Given the description of an element on the screen output the (x, y) to click on. 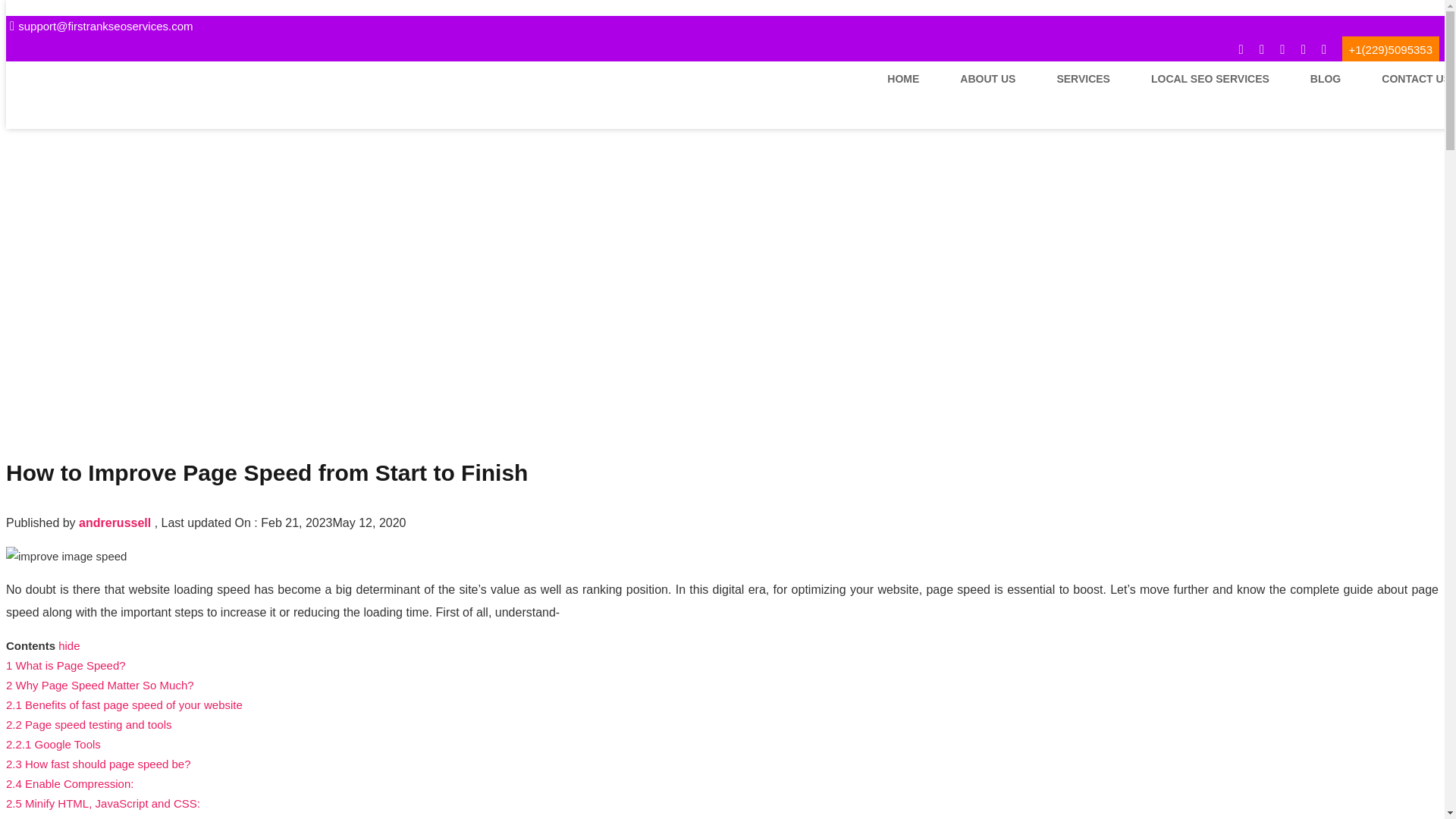
hide (69, 645)
LOCAL SEO SERVICES (1210, 78)
SERVICES (1083, 78)
andrerussell (114, 522)
Submit (131, 375)
ABOUT US (986, 78)
